Given the description of an element on the screen output the (x, y) to click on. 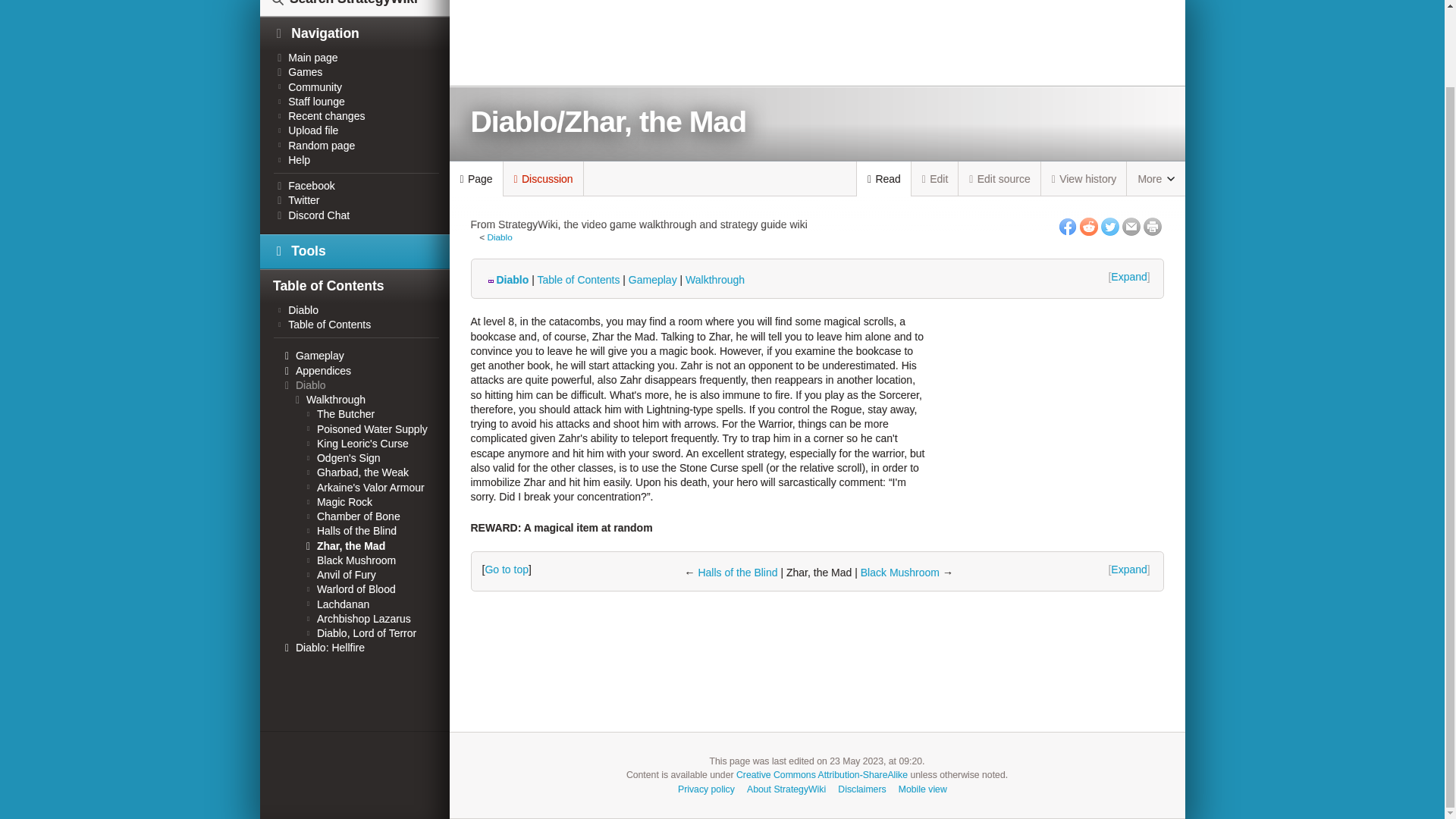
Walkthrough (714, 279)
Search (282, 7)
Page (475, 178)
Edit (935, 178)
Go (282, 7)
Table of Contents (578, 279)
Discussion (543, 178)
Go (282, 7)
Read (884, 178)
Gameplay (652, 279)
E-mail this page (1131, 226)
Diablo (507, 279)
More options (1155, 178)
Diablo (499, 236)
